Given the description of an element on the screen output the (x, y) to click on. 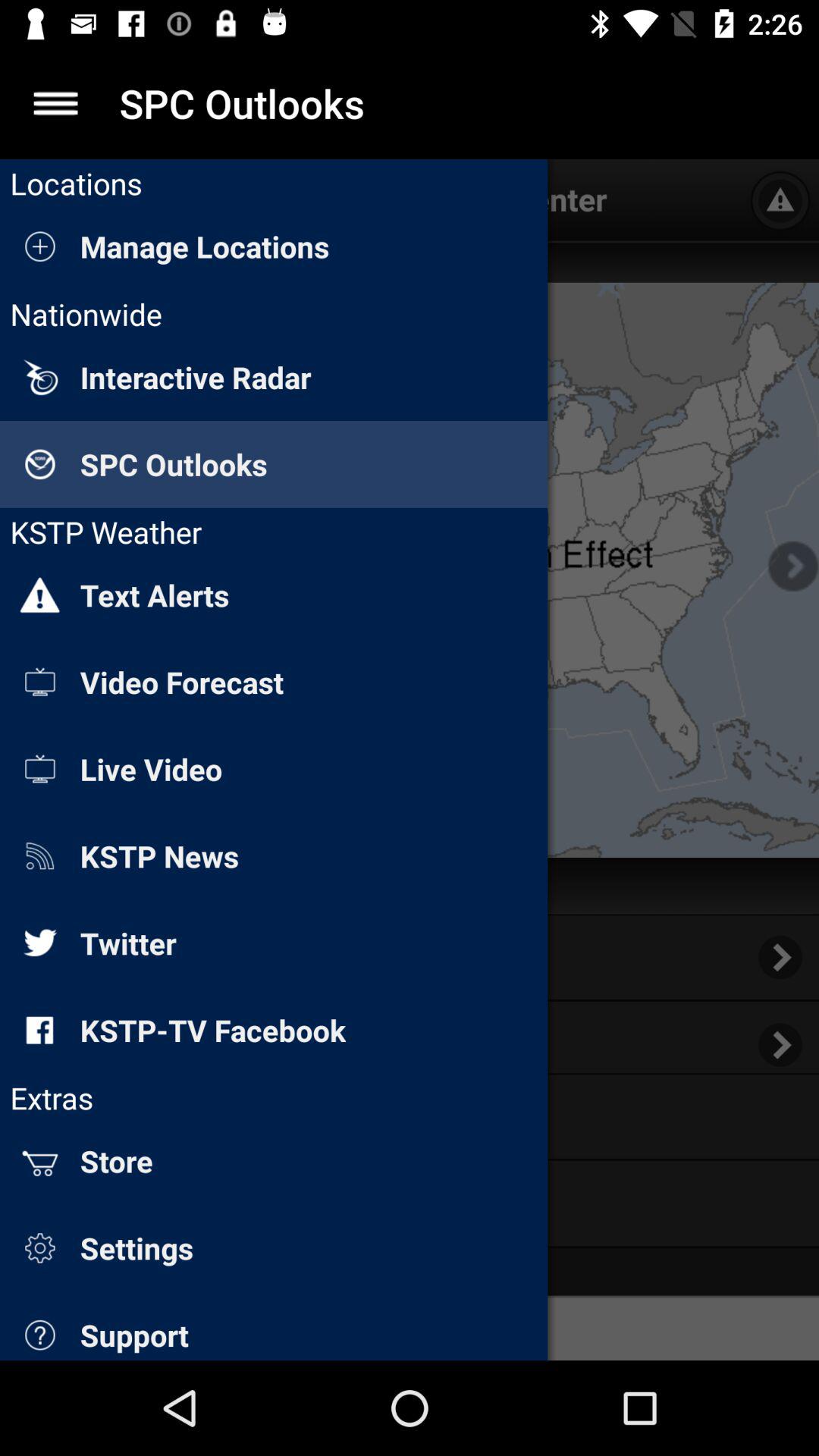
tap the icon to the left of spc outlooks icon (55, 103)
